Given the description of an element on the screen output the (x, y) to click on. 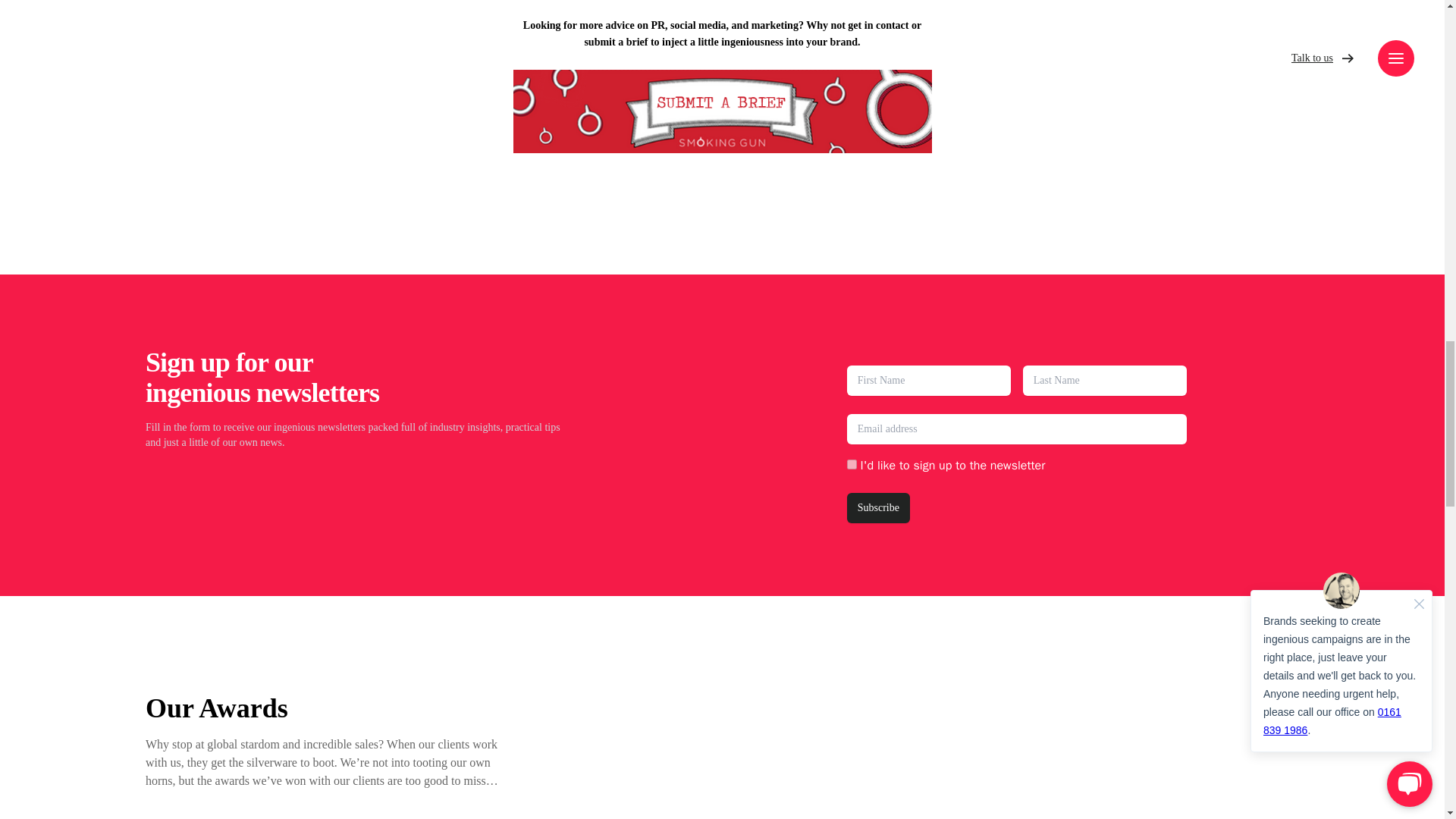
I'd like to sign up to the newsletter (852, 464)
